Given the description of an element on the screen output the (x, y) to click on. 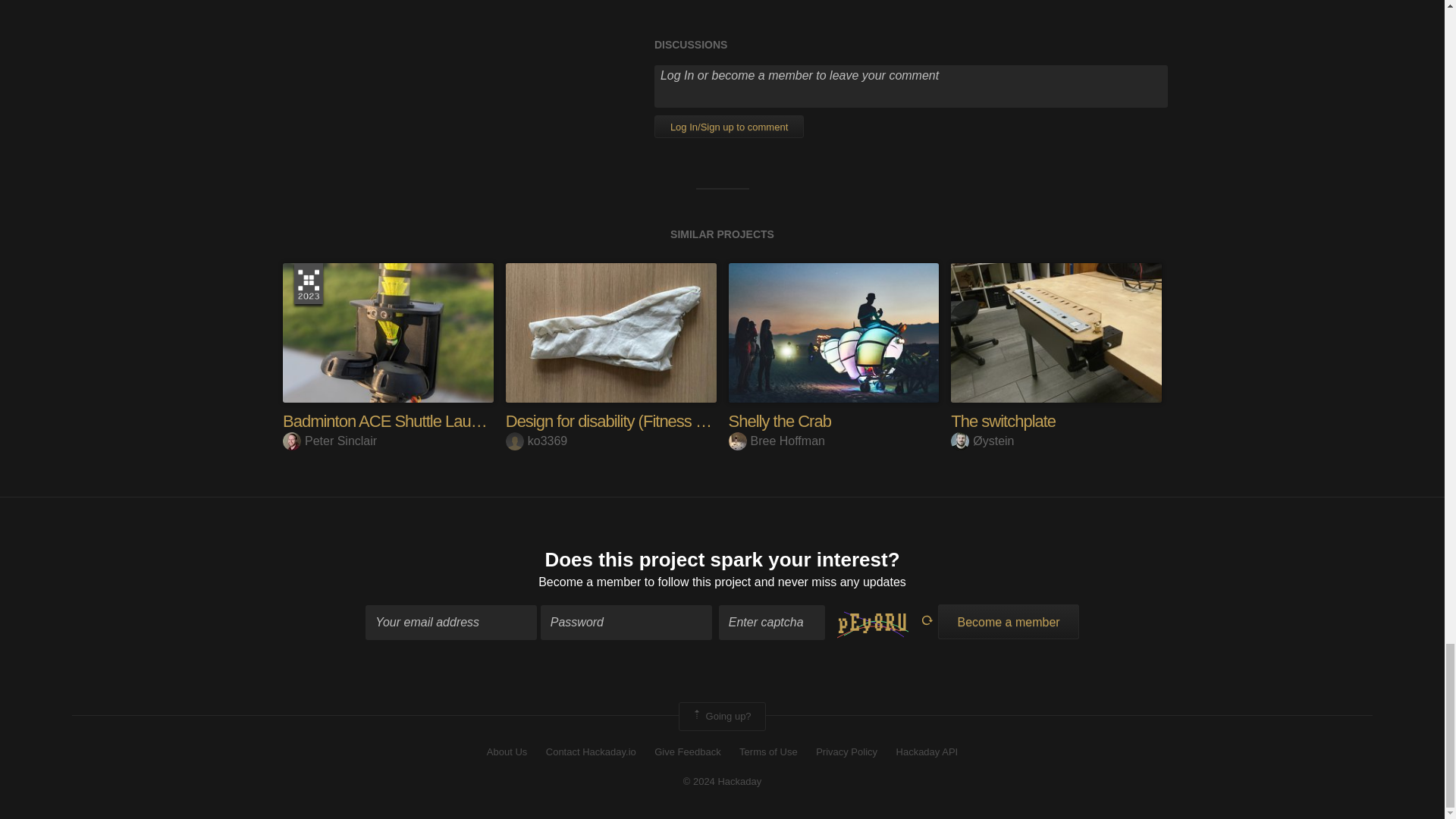
Badminton ACE Shuttle Launcher by Peter Sinclair (387, 332)
Badminton ACE Shuttle Launcher (395, 420)
